Given the description of an element on the screen output the (x, y) to click on. 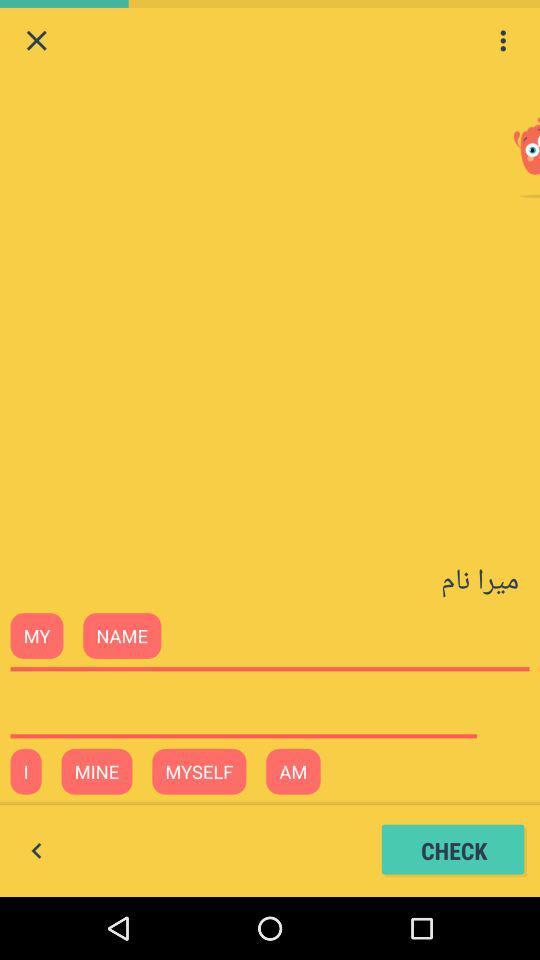
click on i beside mine at the bottom of the web page (26, 771)
click on the option check (454, 850)
click on the text am (293, 771)
